Given the description of an element on the screen output the (x, y) to click on. 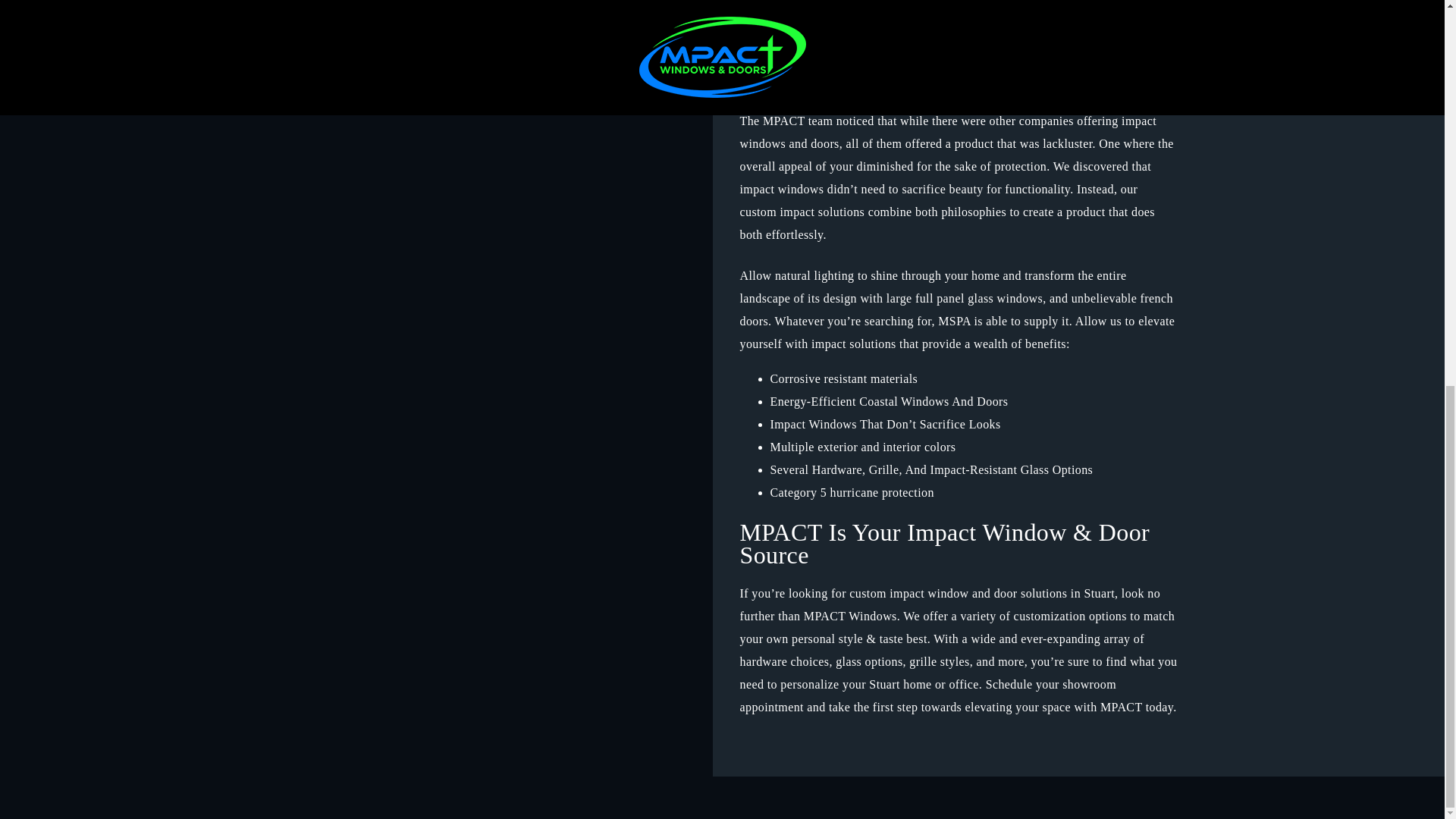
Schedule your showroom appointment (927, 695)
